Given the description of an element on the screen output the (x, y) to click on. 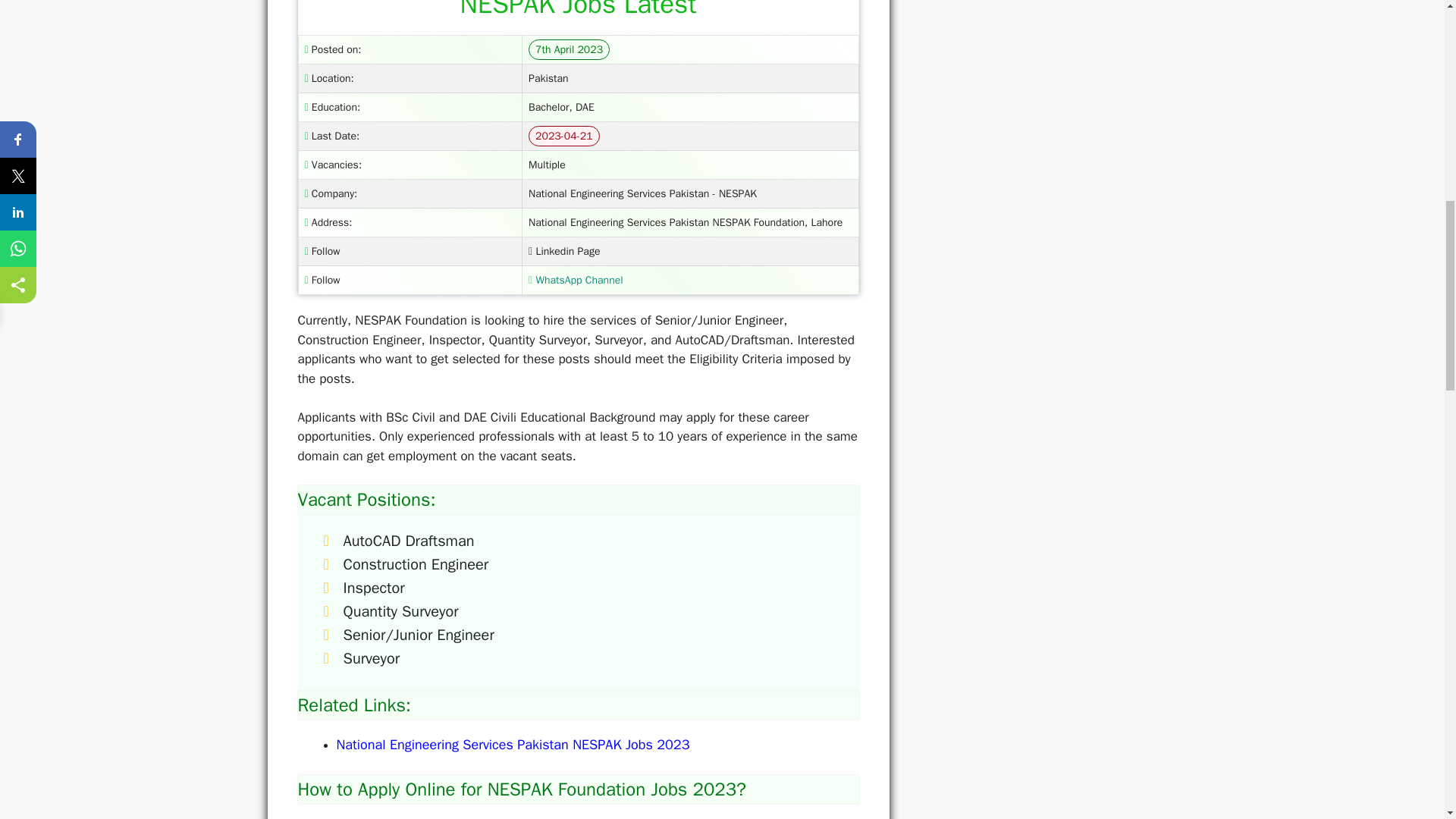
Pakistan (548, 78)
Linkedin Page (563, 250)
WhatsApp Channel (575, 279)
National Engineering Services Pakistan NESPAK Jobs 2023 (513, 744)
